Given the description of an element on the screen output the (x, y) to click on. 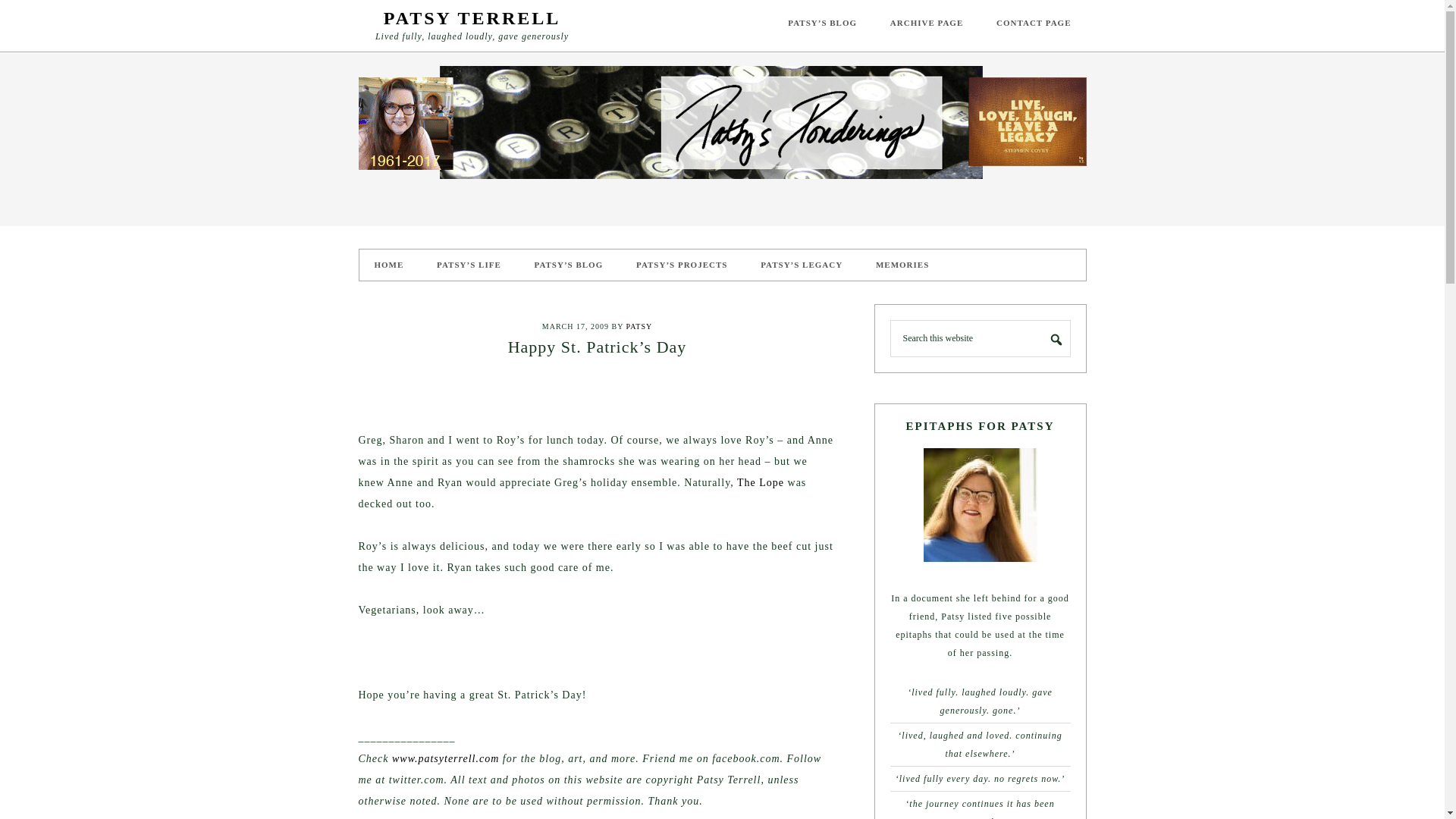
MEMORIES (901, 264)
HOME (389, 264)
ARCHIVE PAGE (926, 22)
PATSY (639, 326)
PATSY TERRELL (472, 17)
The Lope (760, 482)
CONTACT PAGE (1033, 22)
www.patsyterrell.com (445, 758)
